Given the description of an element on the screen output the (x, y) to click on. 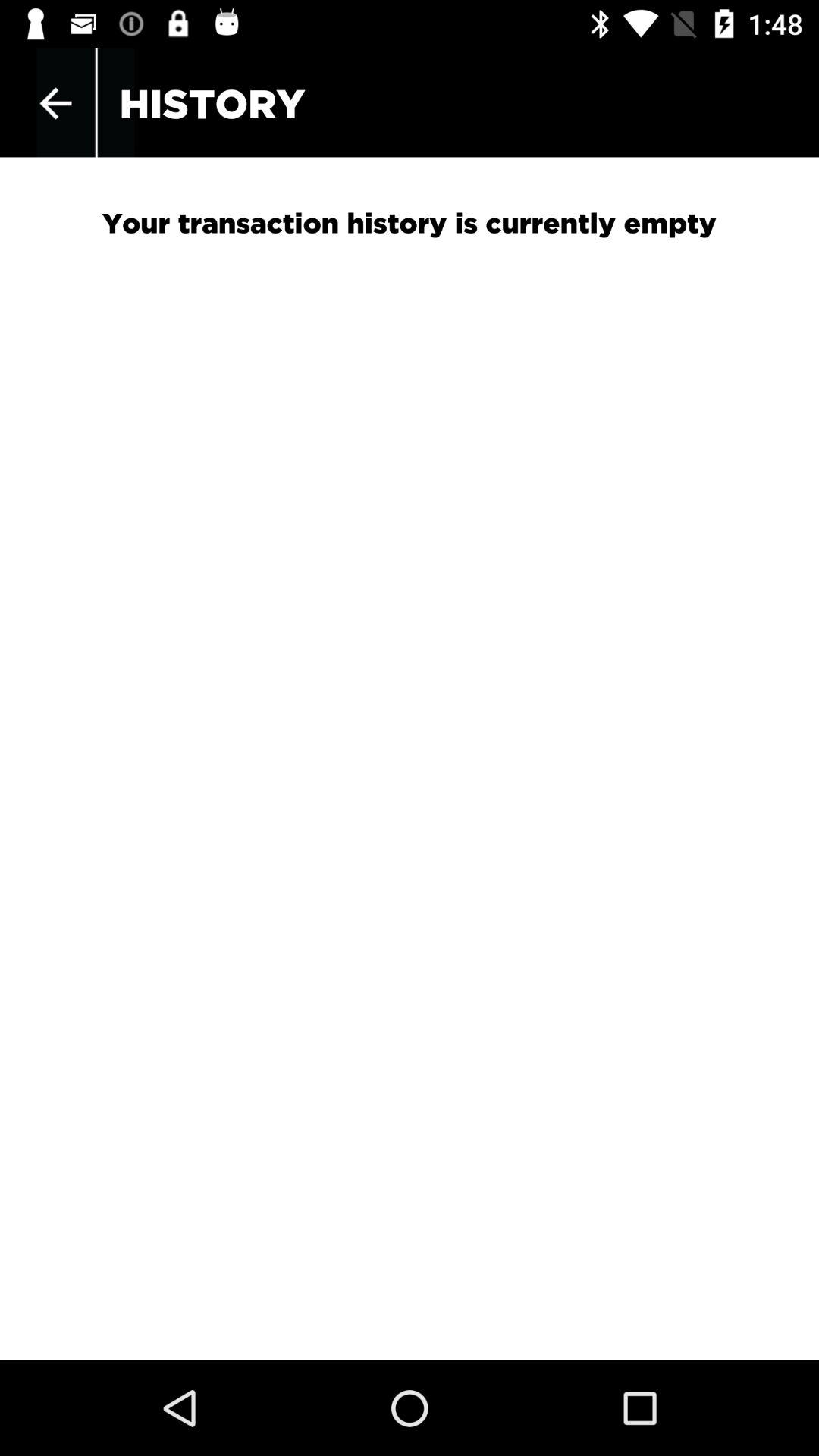
turn on the icon next to the history app (55, 103)
